Given the description of an element on the screen output the (x, y) to click on. 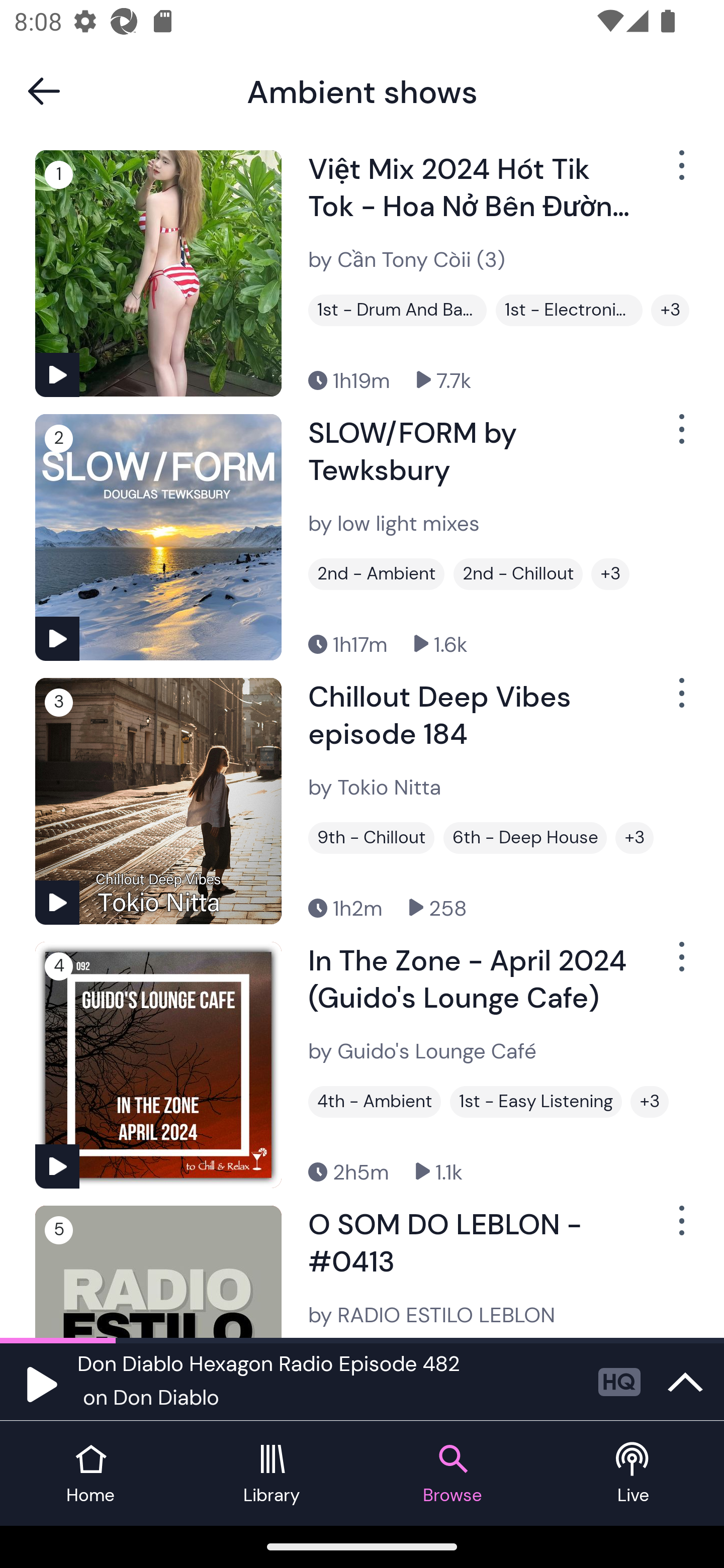
Show Options Menu Button (679, 173)
1st - Drum And Bass (397, 310)
1st - Electronica (568, 310)
Show Options Menu Button (679, 436)
2nd - Ambient (376, 573)
2nd - Chillout (517, 573)
Show Options Menu Button (679, 700)
9th - Chillout (371, 837)
6th - Deep House (524, 837)
Show Options Menu Button (679, 964)
4th - Ambient (374, 1101)
1st - Easy Listening (535, 1101)
Show Options Menu Button (679, 1228)
Home tab Home (90, 1473)
Library tab Library (271, 1473)
Browse tab Browse (452, 1473)
Live tab Live (633, 1473)
